Given the description of an element on the screen output the (x, y) to click on. 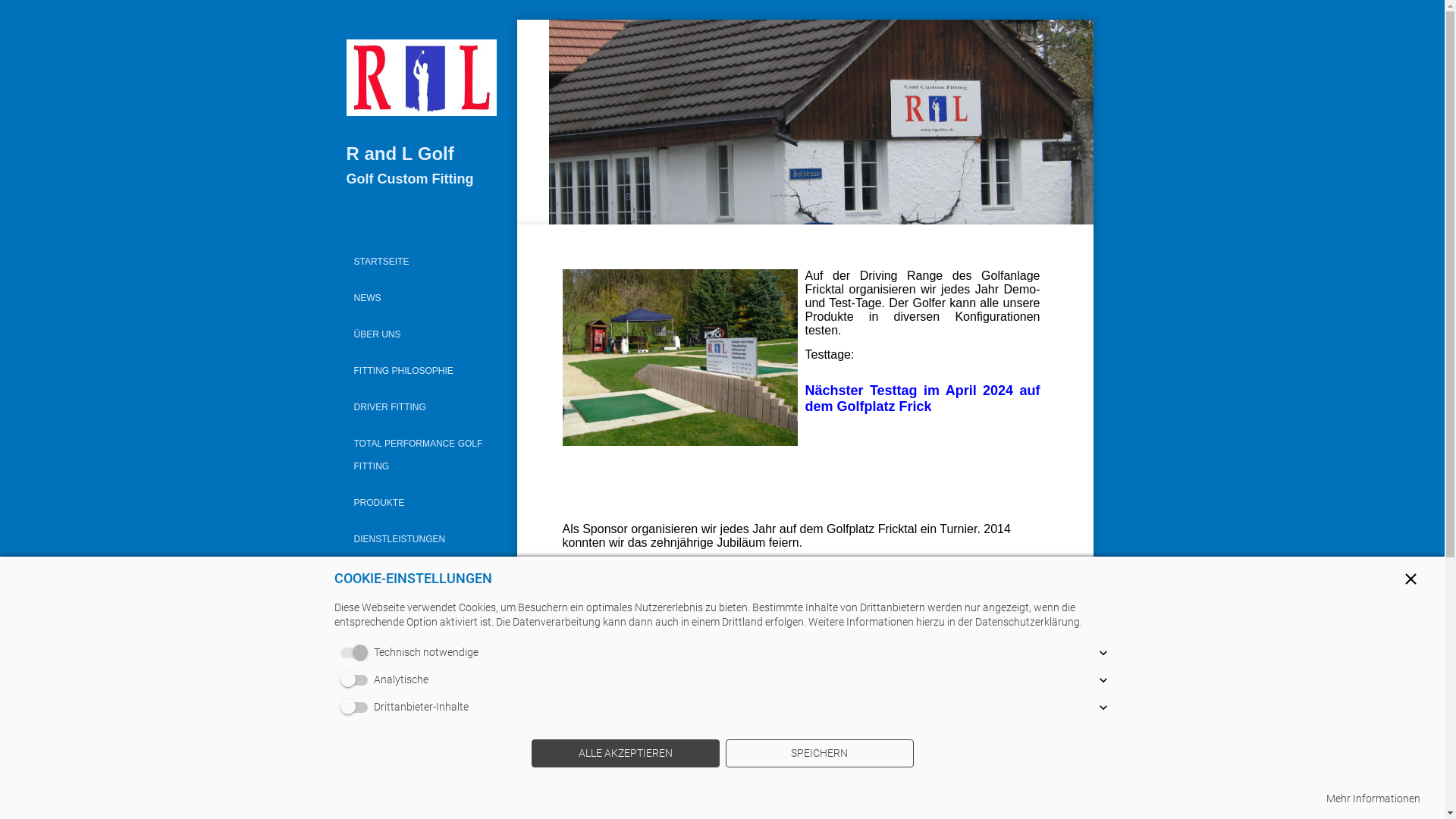
PREISE Element type: text (422, 575)
DRIVER FITTING Element type: text (422, 406)
STARTSEITE Element type: text (422, 261)
Turniere Element type: text (426, 641)
TEACHING Element type: text (422, 723)
SPEICHERN Element type: text (818, 753)
PRODUKTE Element type: text (422, 502)
TOTAL PERFORMANCE GOLF FITTING Element type: text (422, 454)
PARTNER Element type: text (422, 760)
VERANSTALTUNGEN Element type: text (422, 611)
FITTING PHILOSOPHIE Element type: text (422, 370)
NEWS Element type: text (422, 297)
DIENSTLEISTUNGEN Element type: text (422, 538)
Test-Veranstaltungen Element type: text (426, 678)
Mehr Informationen Element type: text (1373, 798)
ALLE AKZEPTIEREN Element type: text (624, 753)
